Given the description of an element on the screen output the (x, y) to click on. 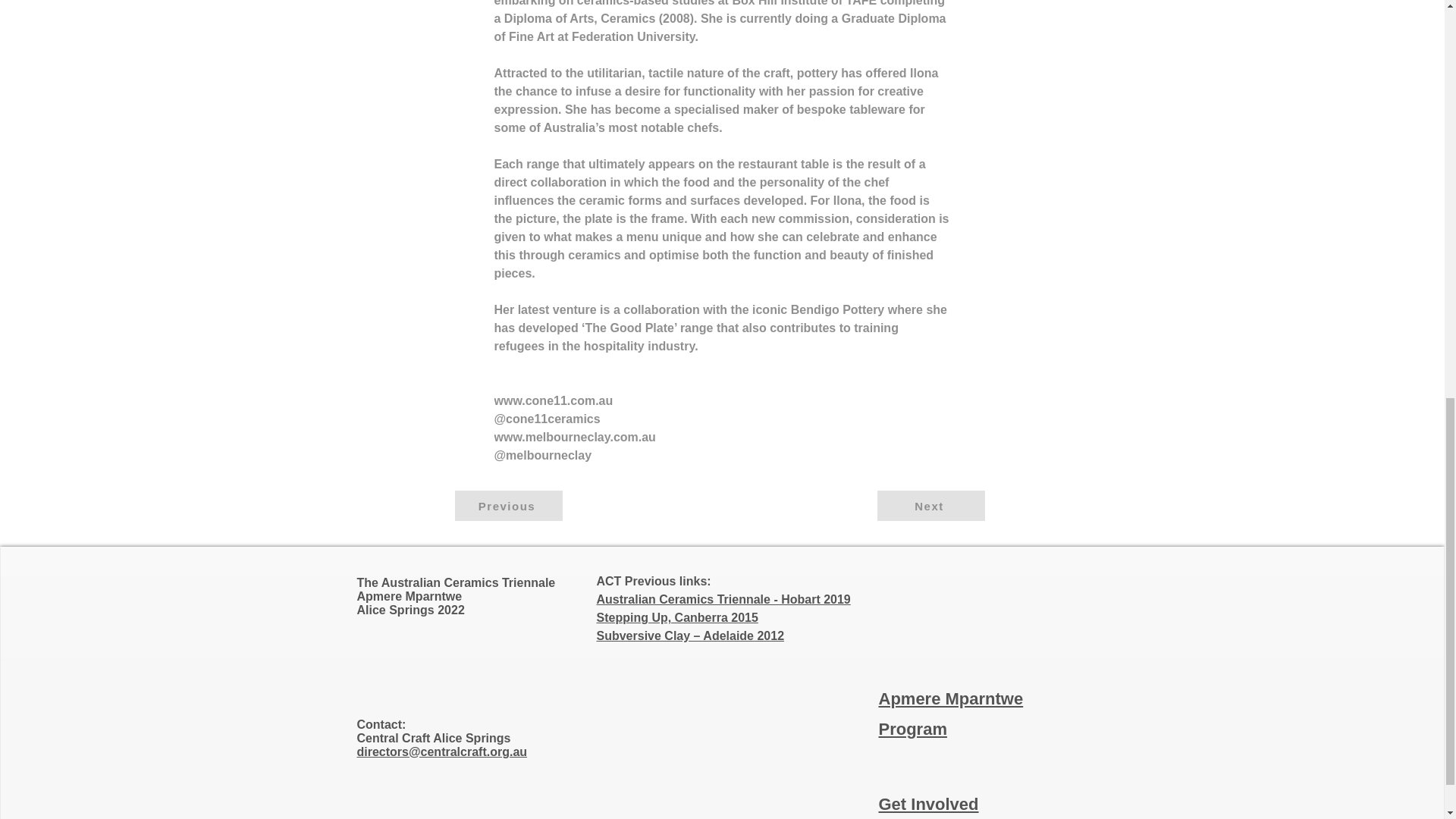
Previous (508, 505)
Next (930, 505)
www.cone11.com.au (553, 400)
Stepping Up, Canberra 2015 (676, 617)
Apmere Mparntwe (950, 698)
Get Involved (927, 804)
Program (911, 728)
www.melbourneclay.com.au (575, 436)
Australian Ceramics Triennale - Hobart 2019 (722, 599)
